Given the description of an element on the screen output the (x, y) to click on. 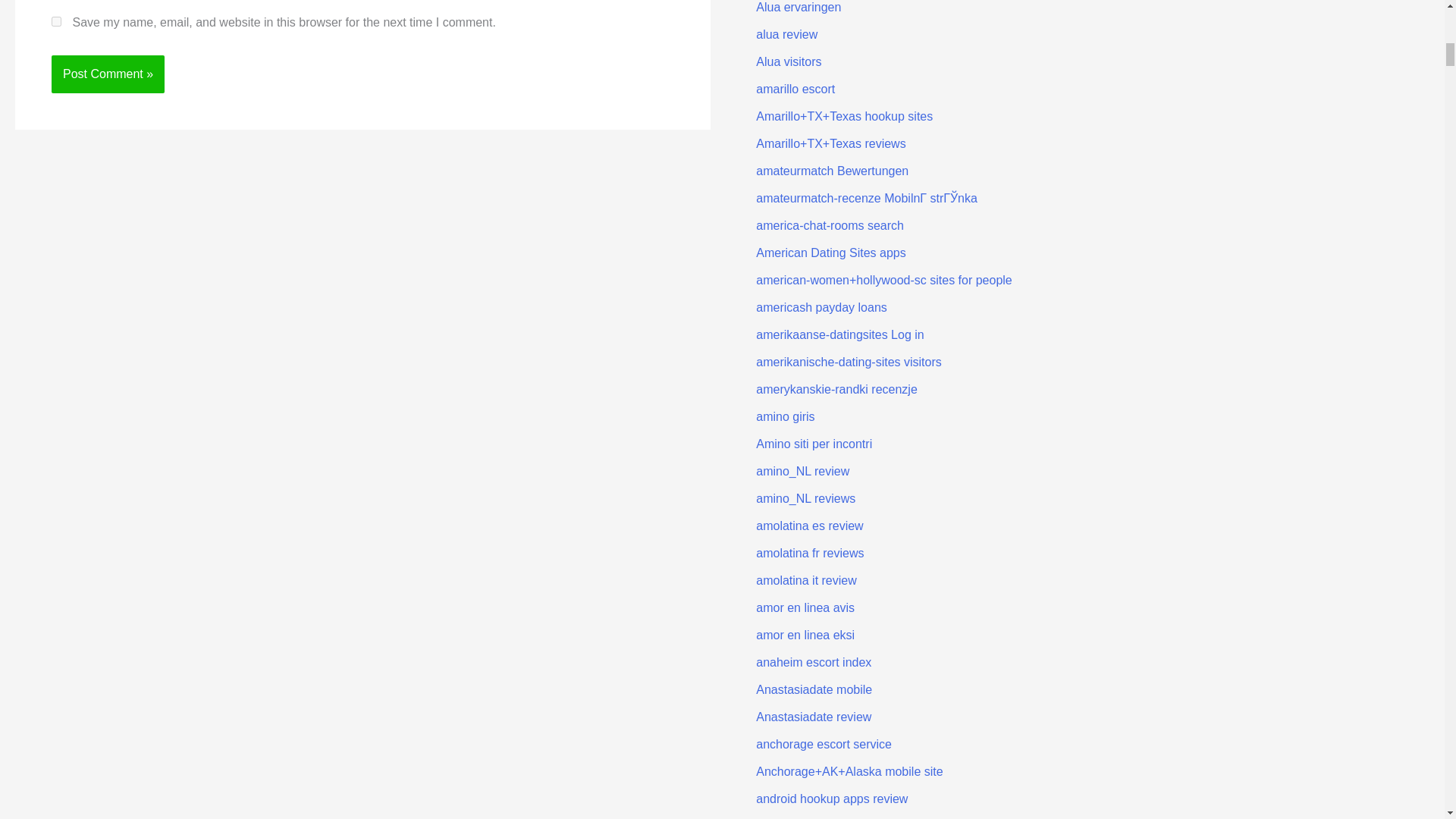
yes (55, 21)
